Given the description of an element on the screen output the (x, y) to click on. 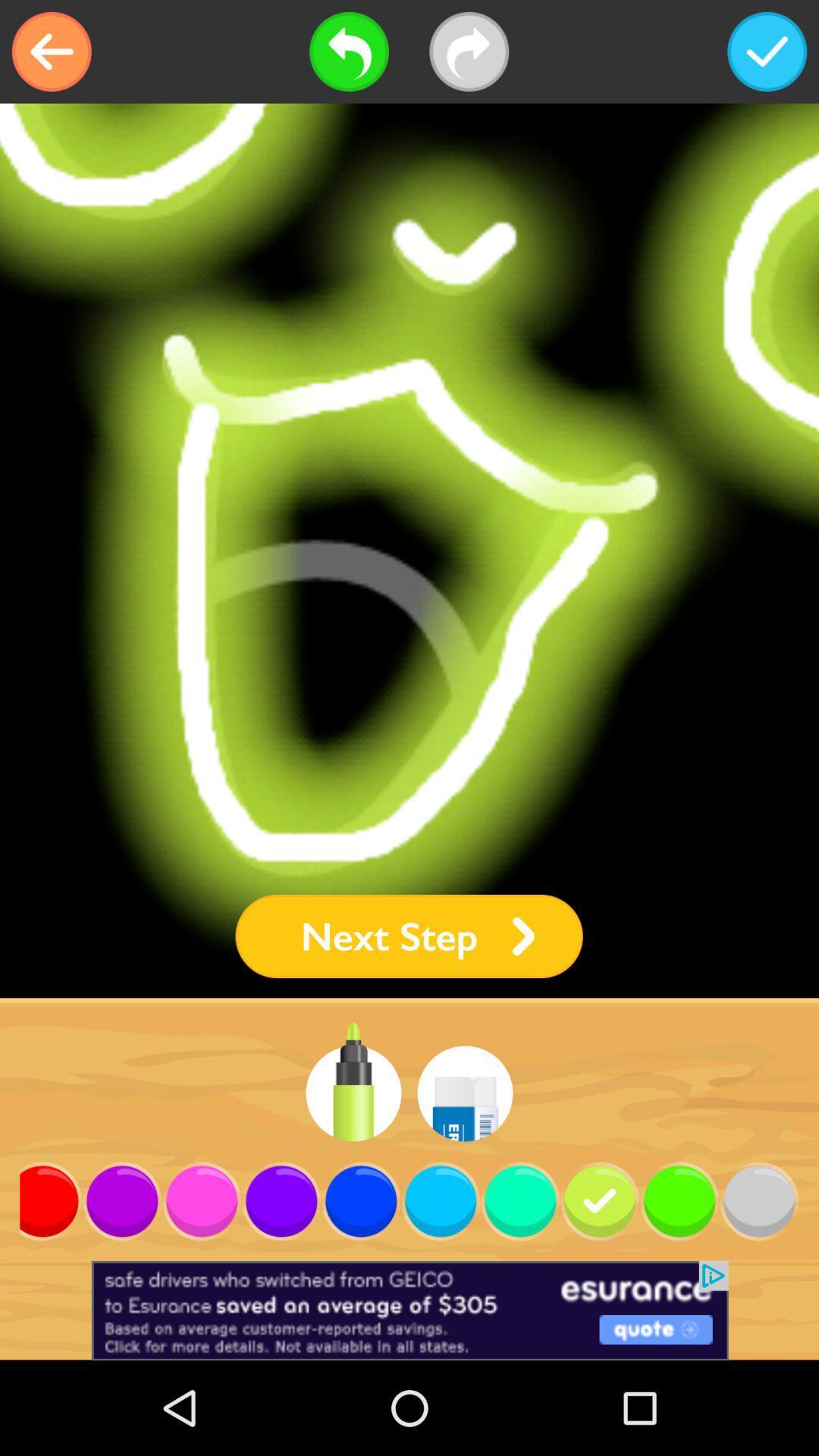
go back (51, 51)
